Given the description of an element on the screen output the (x, y) to click on. 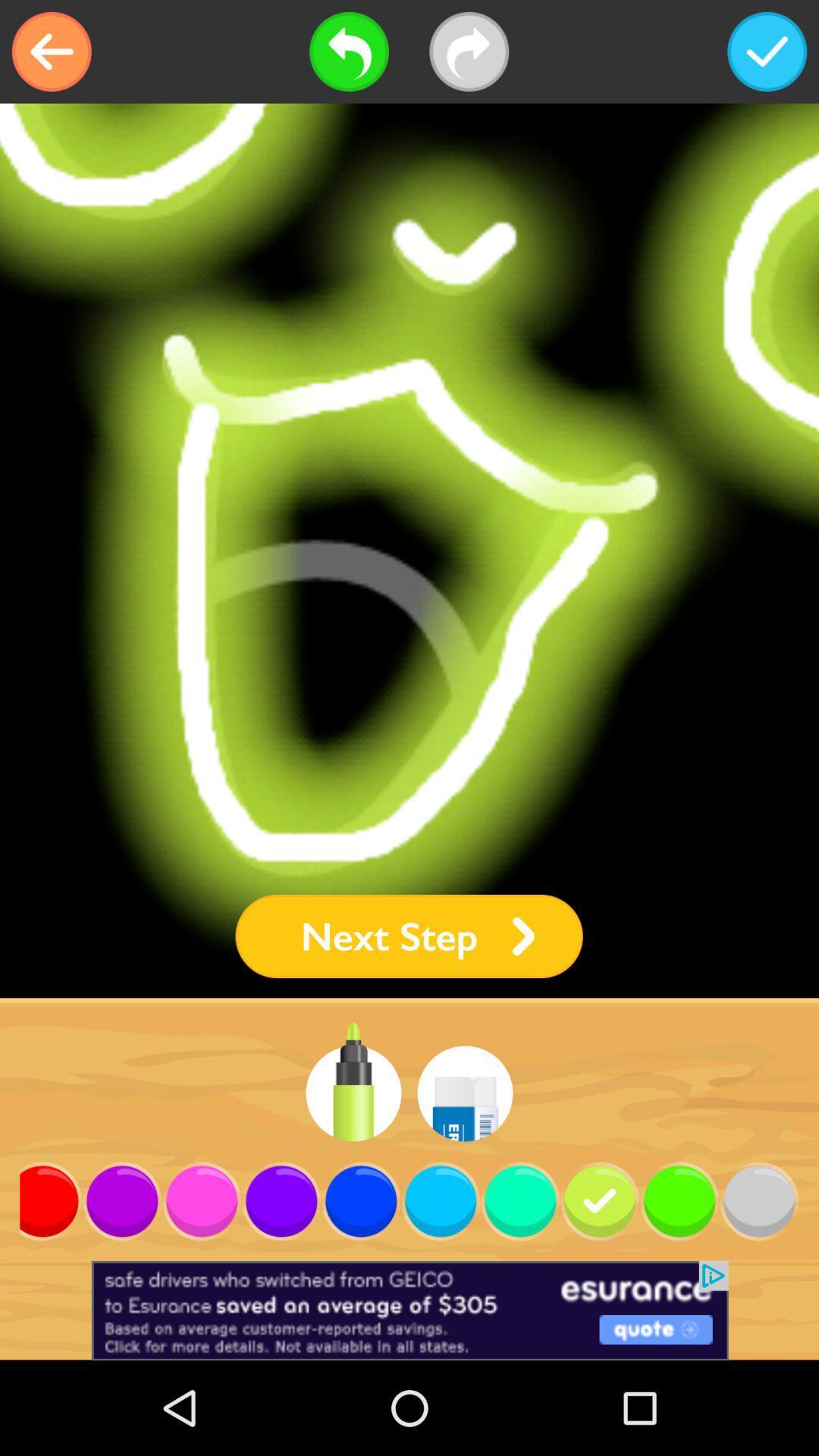
go back (51, 51)
